Given the description of an element on the screen output the (x, y) to click on. 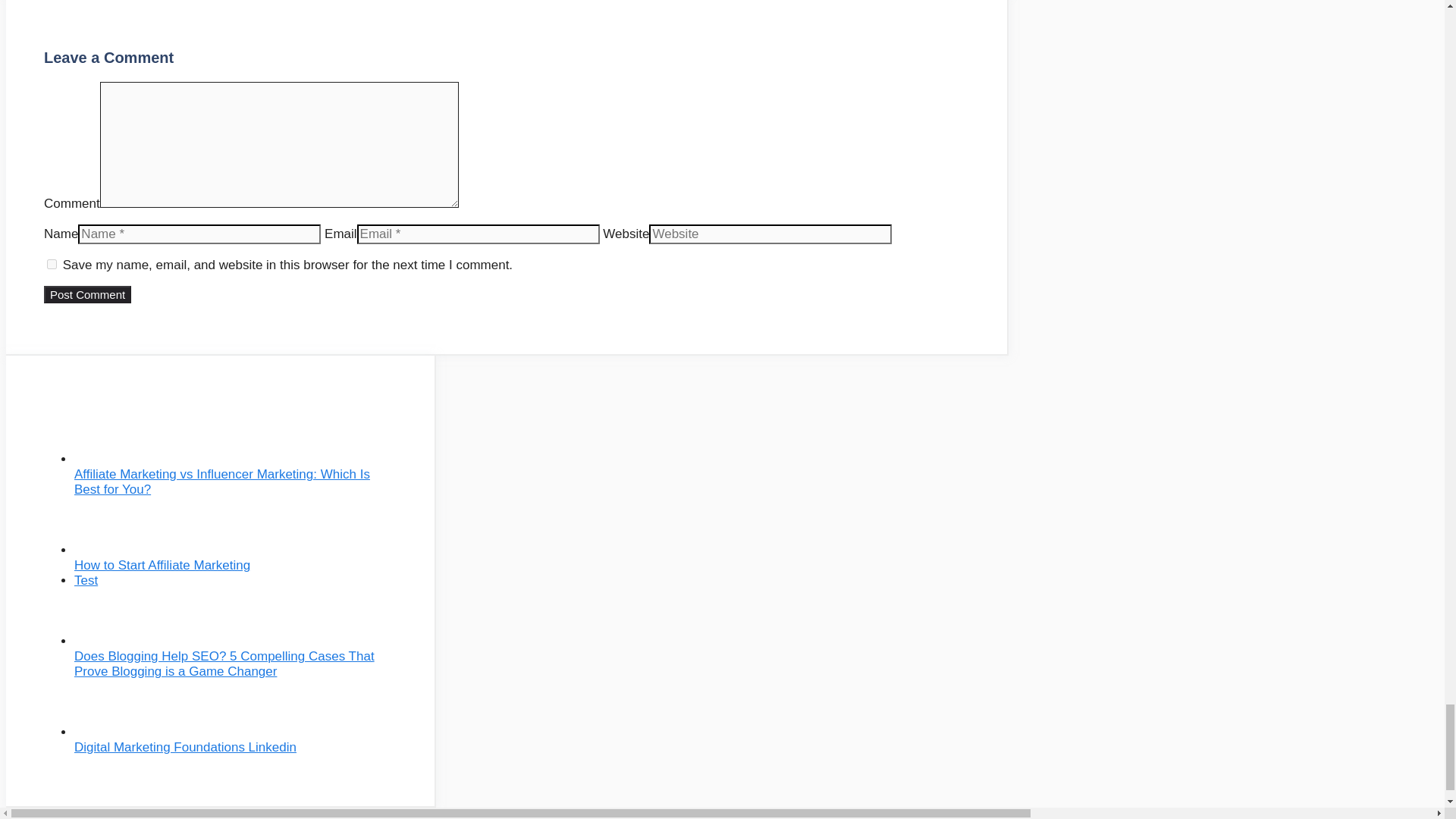
yes (51, 264)
Post Comment (87, 294)
